Given the description of an element on the screen output the (x, y) to click on. 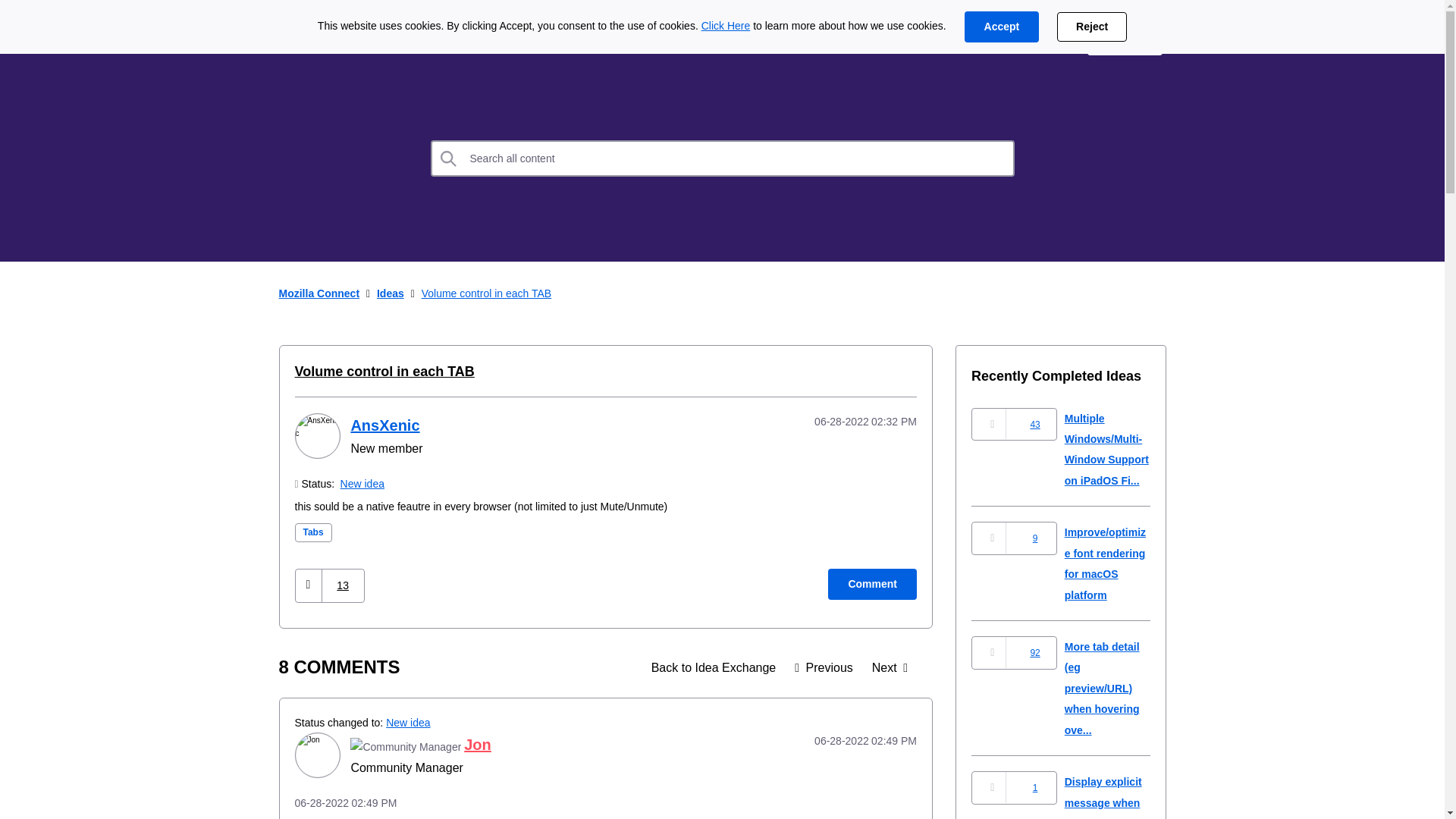
Support (1040, 39)
Back to Idea Exchange (714, 667)
Ideas (390, 293)
Posted on (845, 741)
Next (889, 667)
Click Here (726, 25)
AnsXenic (384, 425)
Tabs (312, 532)
Search (448, 158)
Community (607, 39)
